Given the description of an element on the screen output the (x, y) to click on. 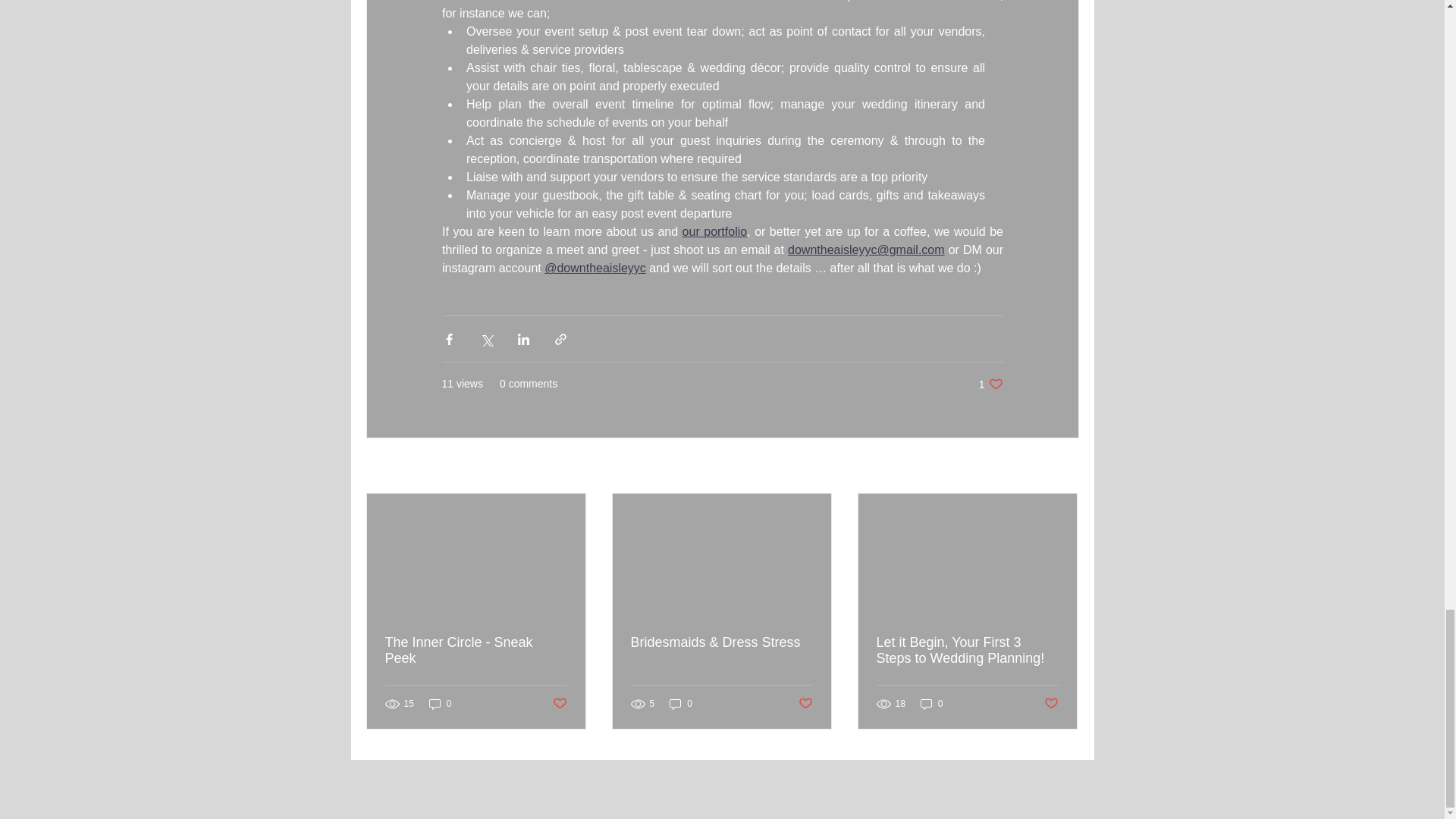
0 (931, 703)
Post not marked as liked (804, 703)
0 (440, 703)
See All (1061, 466)
our portfolio (990, 383)
Post not marked as liked (713, 231)
The Inner Circle - Sneak Peek (1050, 703)
Post not marked as liked (476, 650)
Let it Begin, Your First 3 Steps to Wedding Planning! (558, 703)
